Given the description of an element on the screen output the (x, y) to click on. 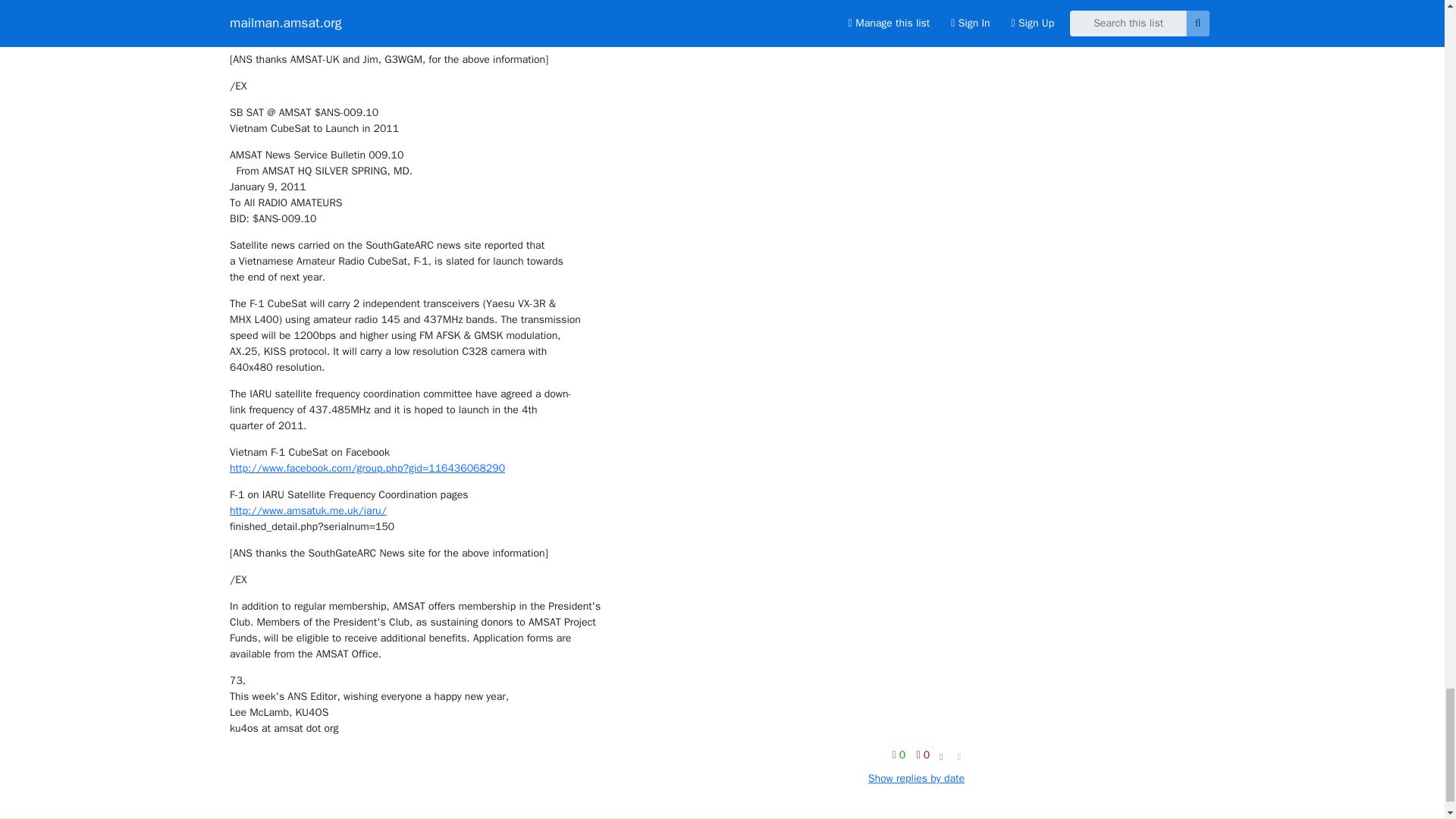
You must be logged-in to vote. (922, 754)
You must be logged-in to vote. (900, 754)
0 (900, 754)
0 (922, 754)
Show replies by date (915, 778)
